Given the description of an element on the screen output the (x, y) to click on. 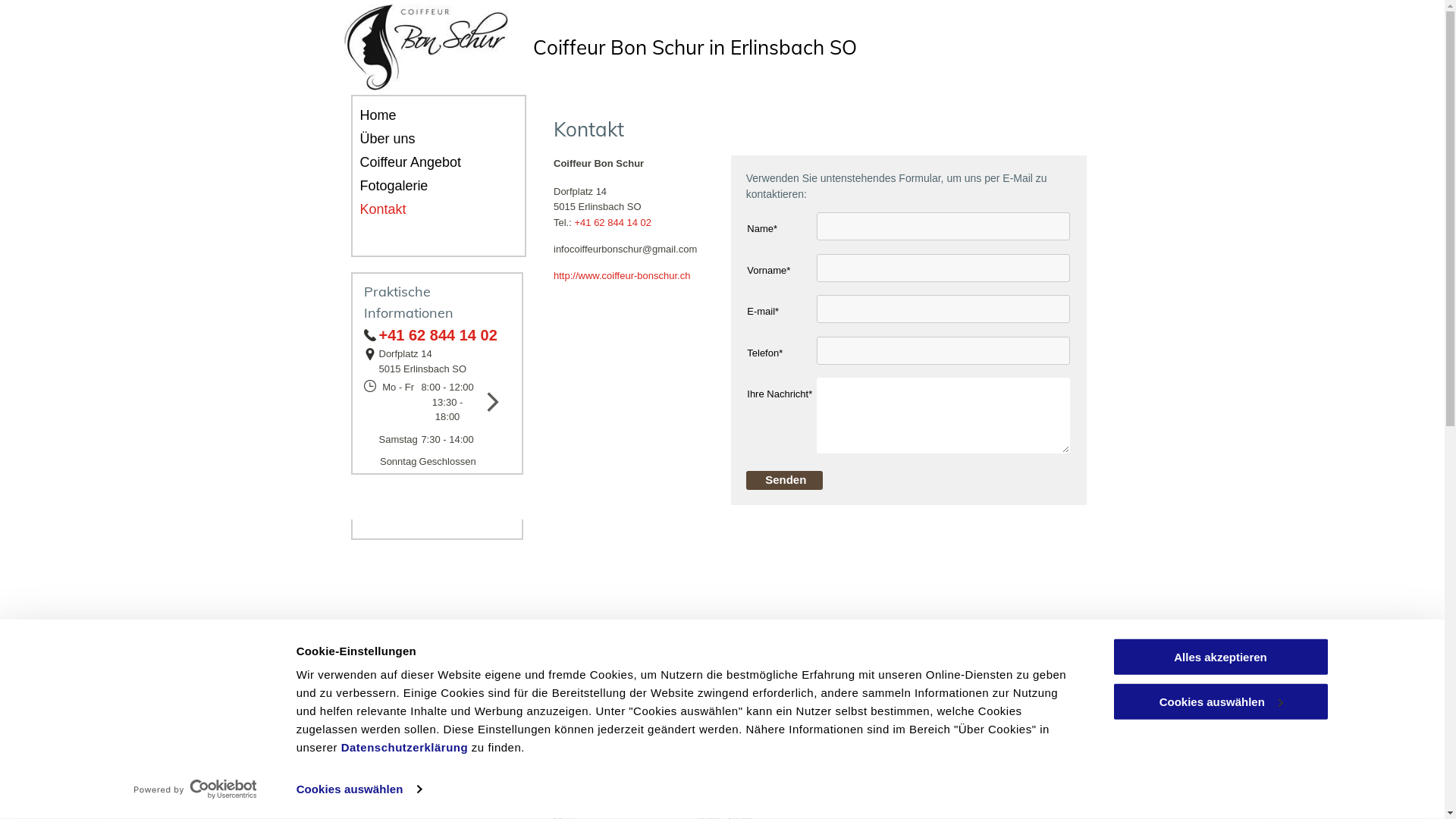
Home Element type: text (424, 115)
Coiffeur B Element type: text (577, 46)
Fotogalerie Element type: text (424, 185)
Coiffeur Angebot Element type: text (424, 162)
Senden Element type: text (785, 479)
Kontakt Element type: text (424, 209)
http://www.coiffeur-bonschur.ch Element type: text (621, 275)
Alles akzeptieren Element type: text (1219, 656)
+41 62 844 14 02 Element type: text (438, 334)
+41 62 844 14 02 Element type: text (612, 222)
on Schur in Erlinsbach SO Element type: text (739, 46)
